Given the description of an element on the screen output the (x, y) to click on. 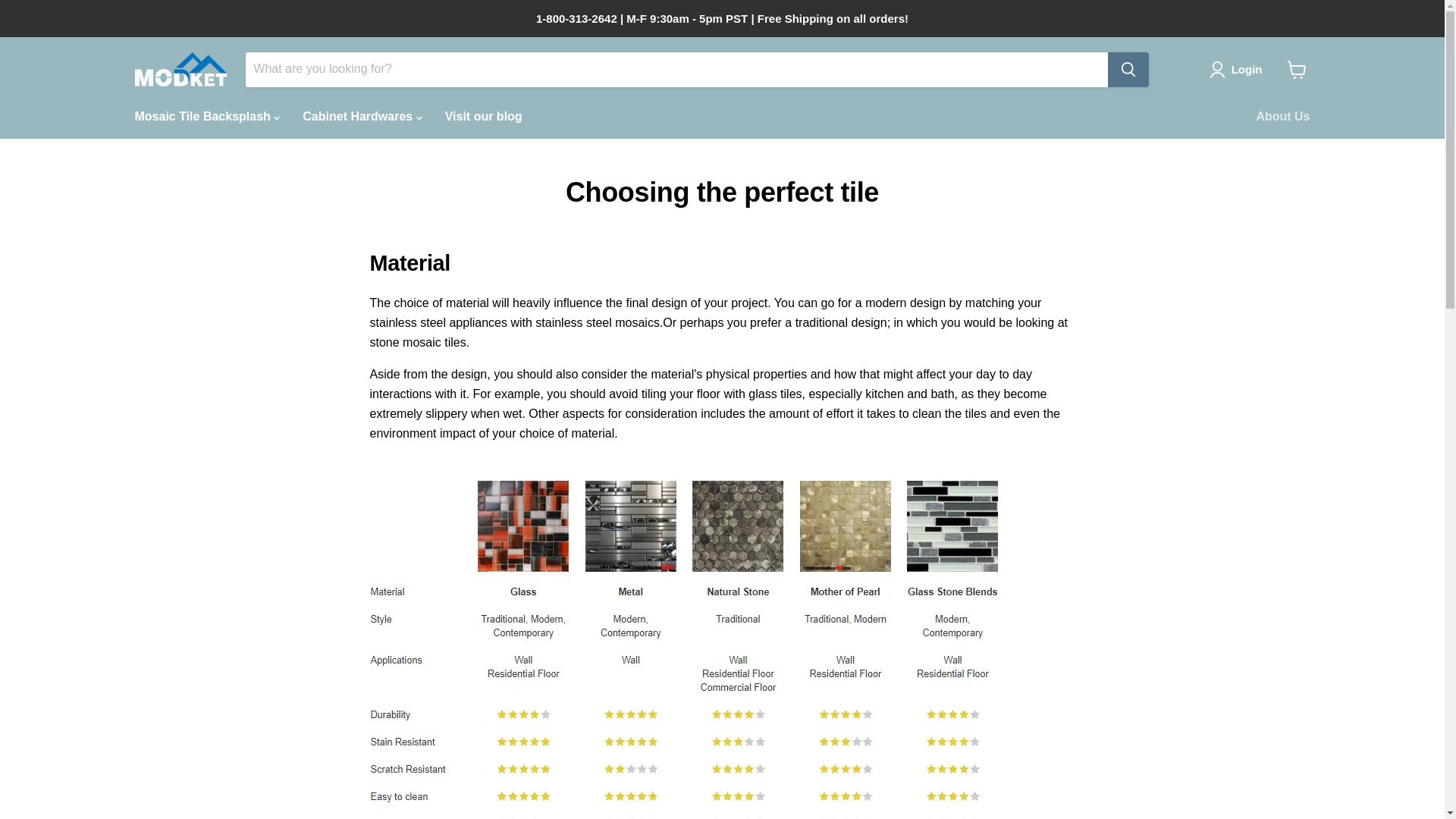
View cart (1296, 69)
Login (1246, 69)
Mosaic Tile Backsplash (206, 115)
